Given the description of an element on the screen output the (x, y) to click on. 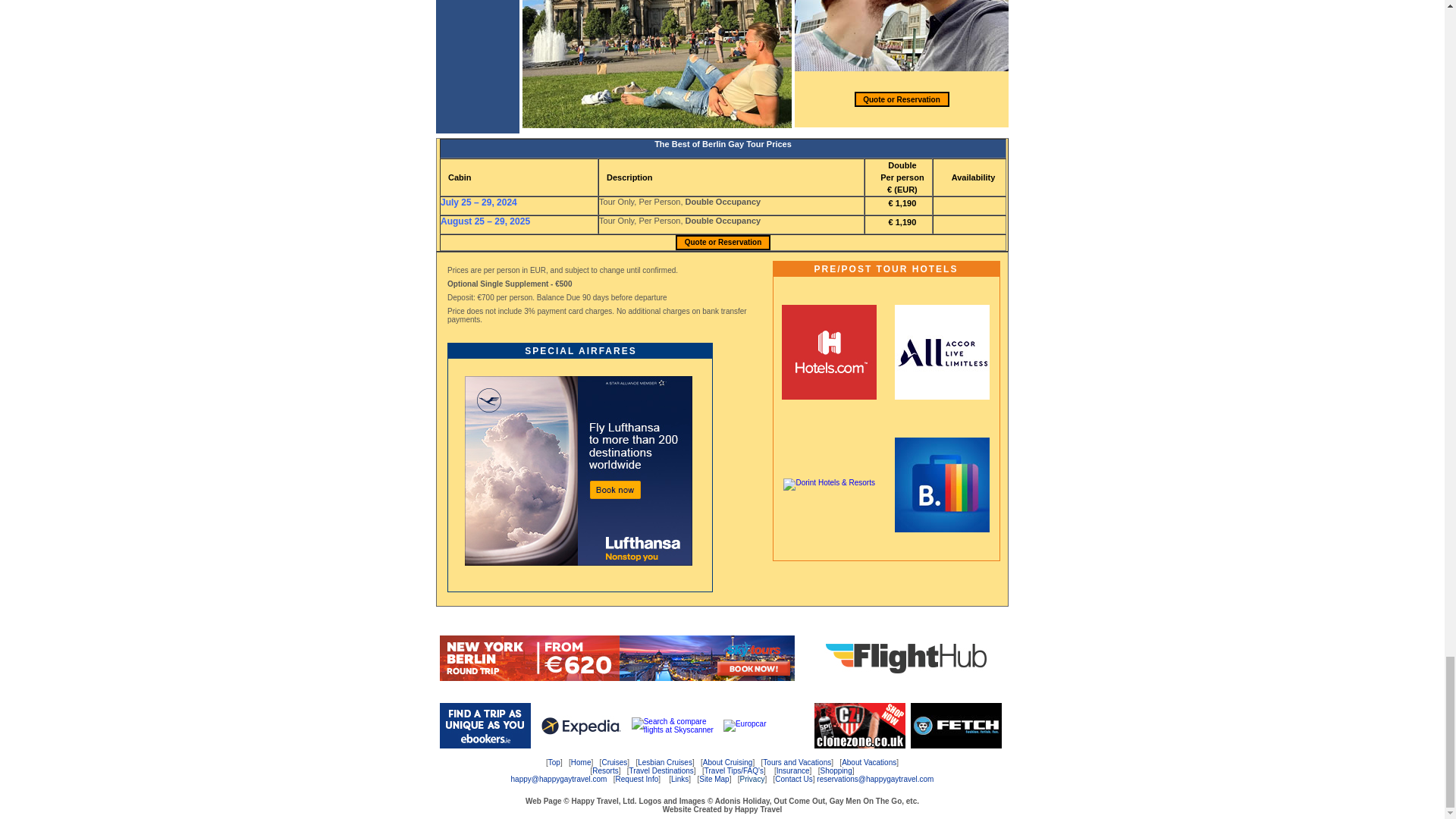
Quote or Reservation (901, 99)
Quote or Reservation (722, 242)
